Given the description of an element on the screen output the (x, y) to click on. 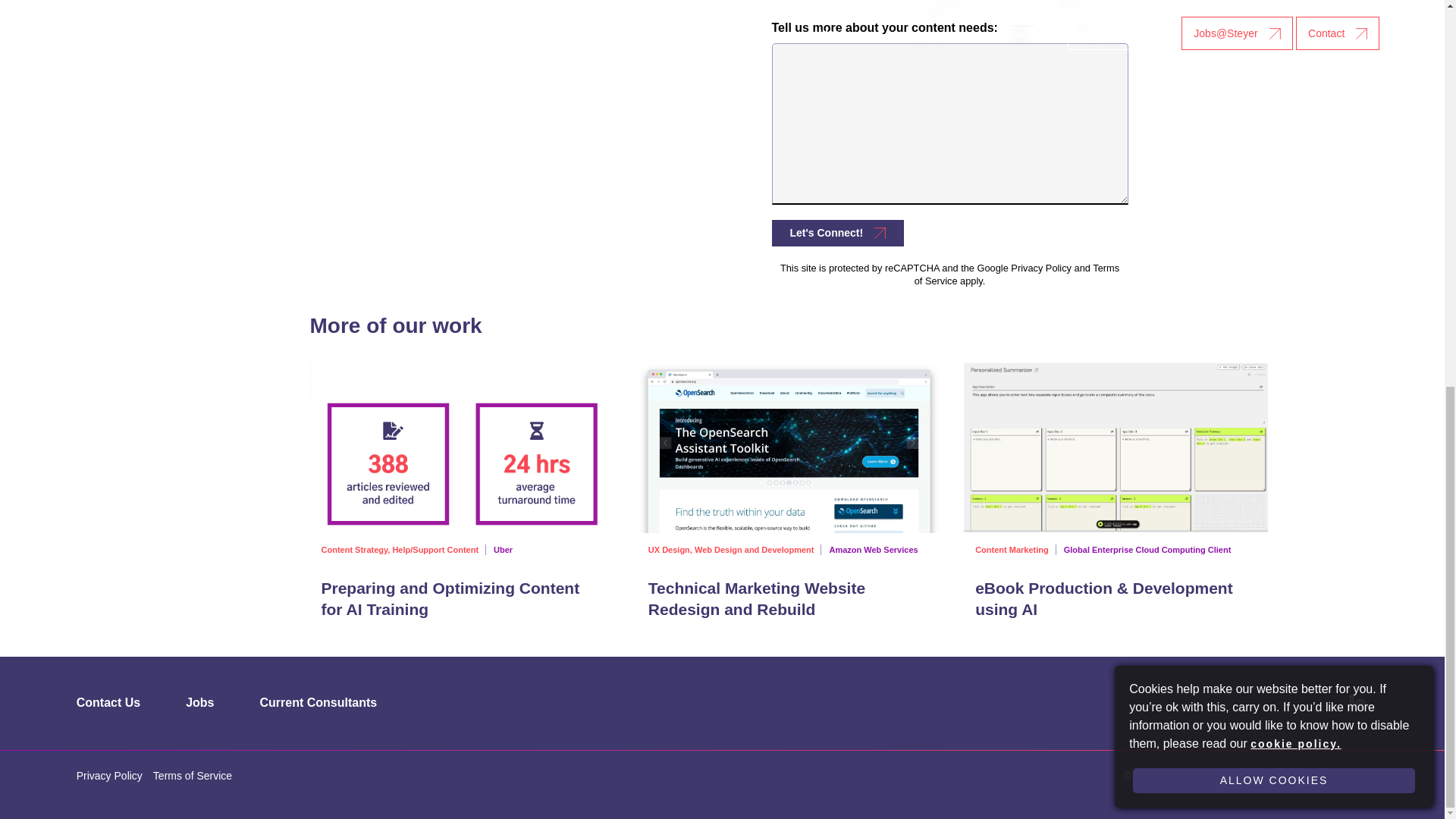
Privacy Policy (1040, 267)
Let's Connect! (837, 233)
Submit (837, 233)
Terms of Service (1016, 274)
